Given the description of an element on the screen output the (x, y) to click on. 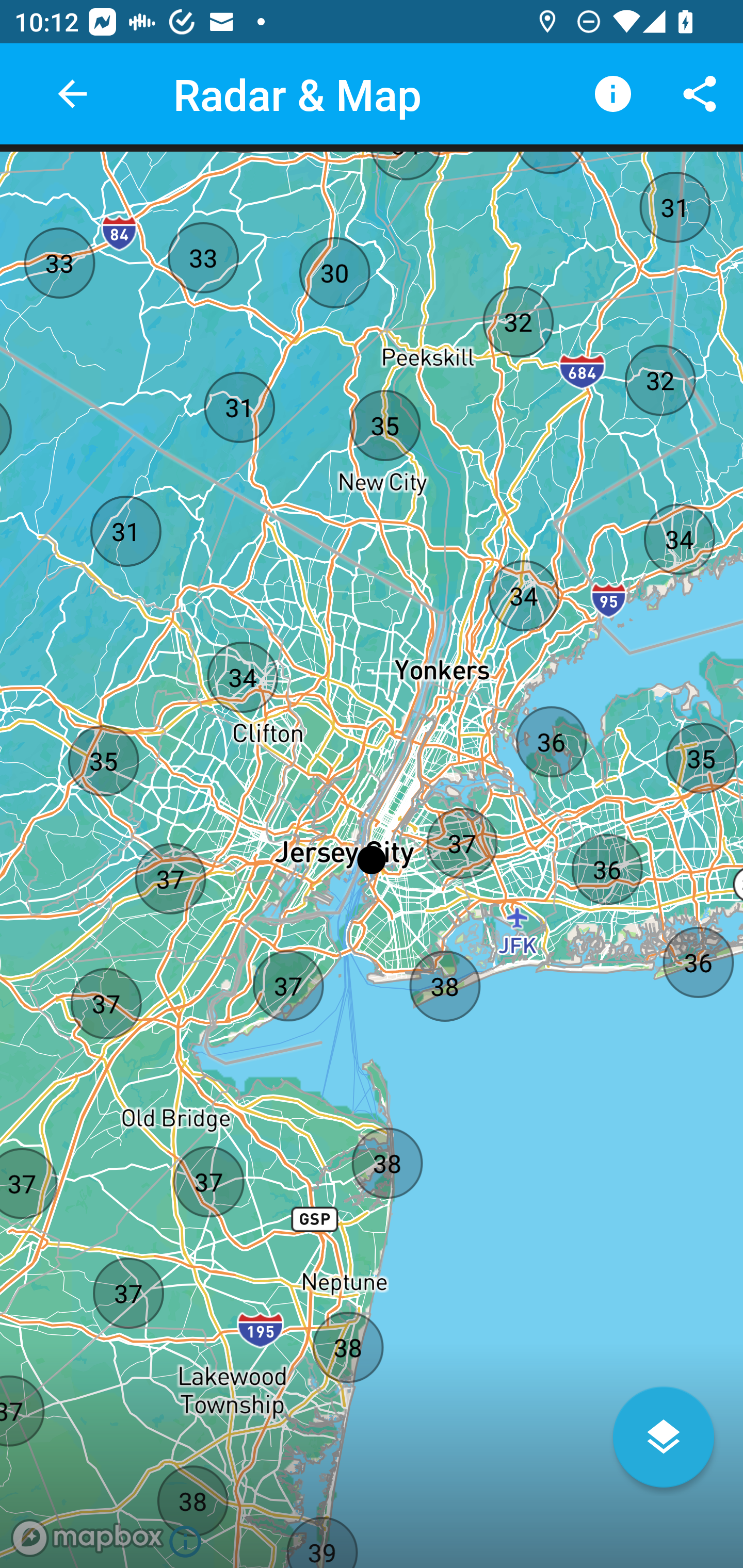
back (71, 93)
Legend (612, 93)
Share (699, 93)
Open layers menu. (663, 1437)
